Given the description of an element on the screen output the (x, y) to click on. 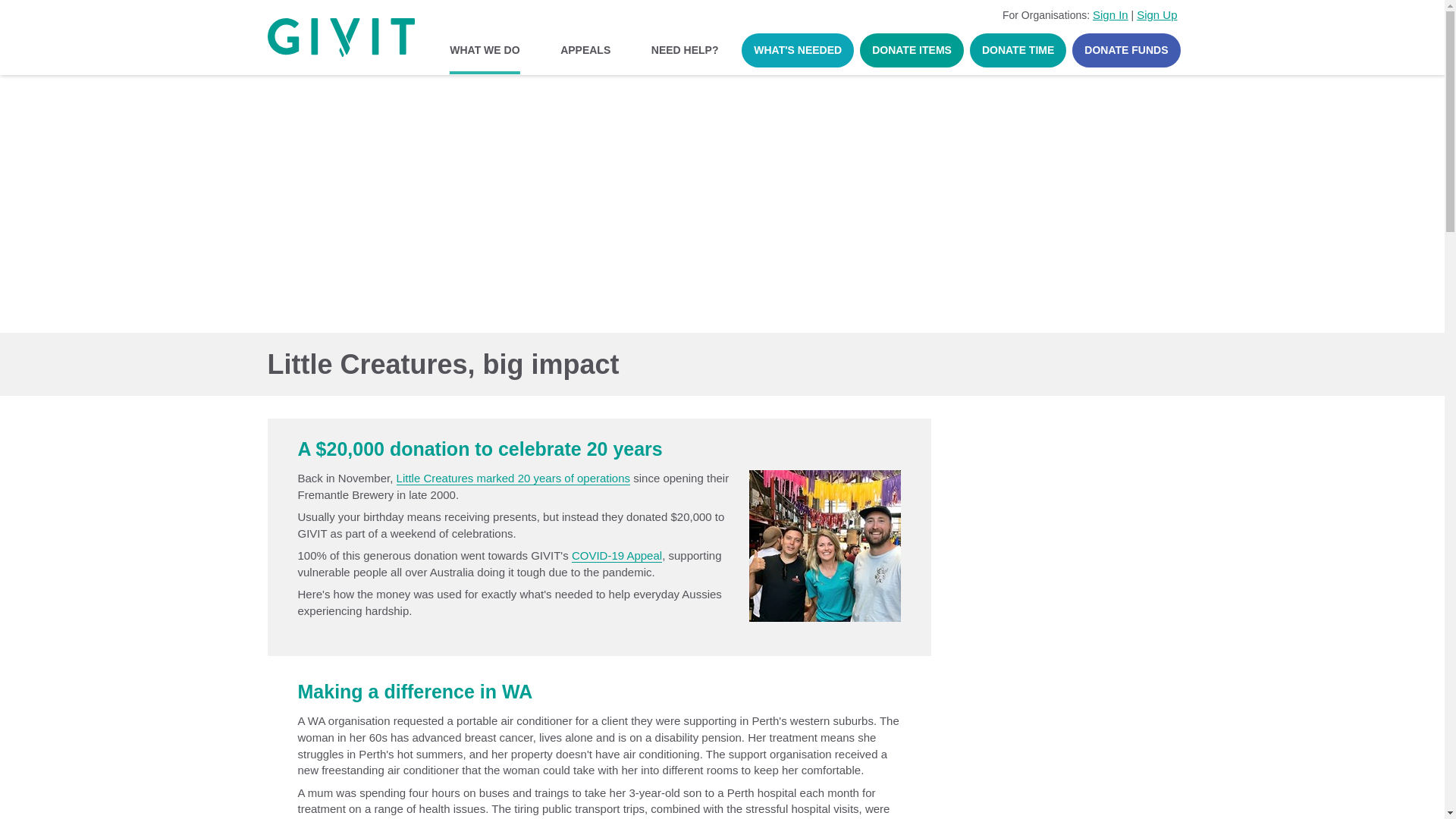
WHAT'S NEEDED (797, 50)
What we do (295, 91)
DONATE FUNDS (1125, 50)
NEED HELP? (684, 50)
Little Creatures marked 20 years of operations (513, 478)
Sign In (1110, 14)
Givit homepage (339, 37)
WHAT WE DO (484, 50)
DONATE ITEMS (911, 50)
DONATE TIME (1017, 50)
APPEALS (585, 50)
COVID-19 Appeal (617, 555)
Sign Up (1156, 14)
